Given the description of an element on the screen output the (x, y) to click on. 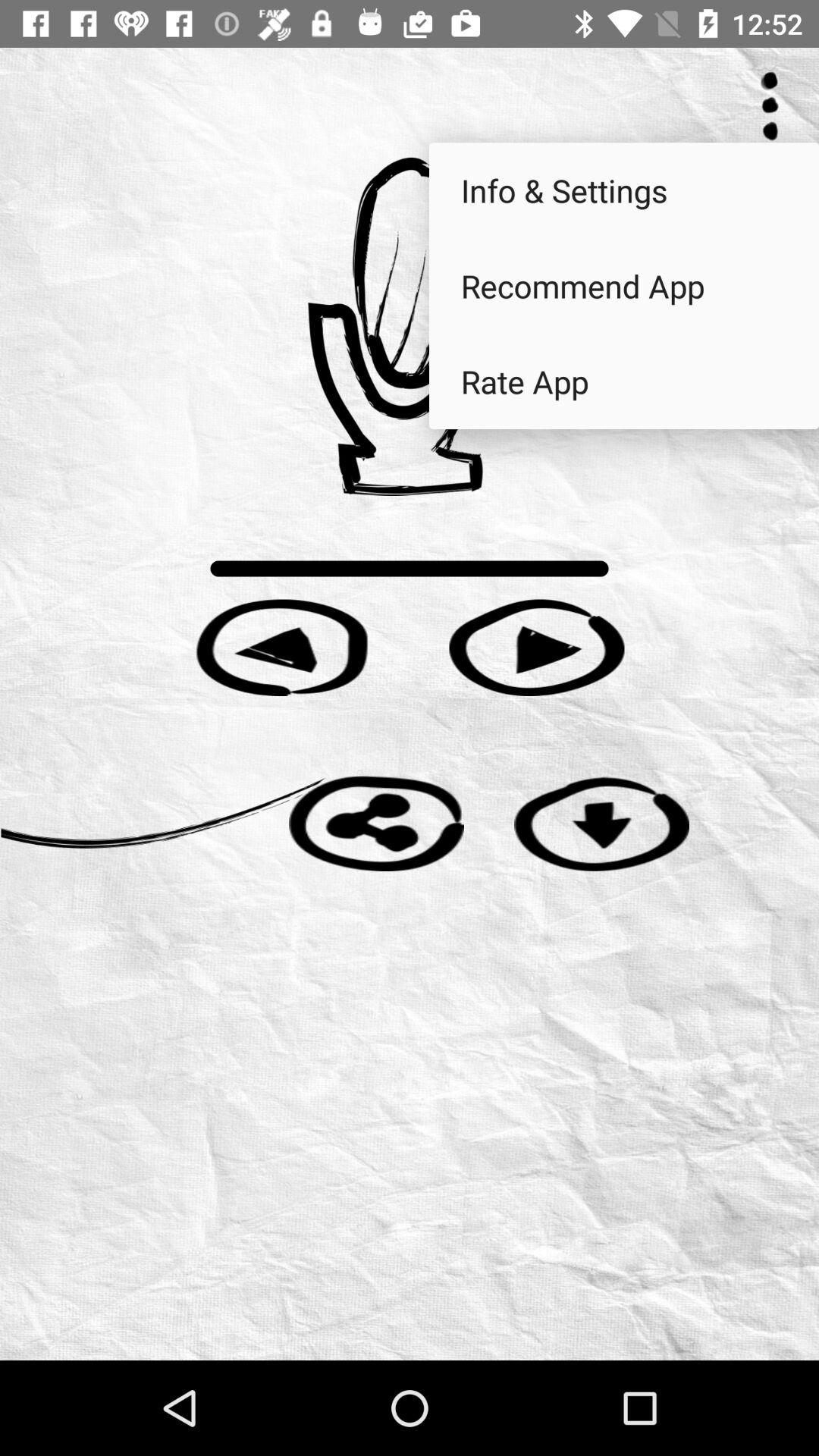
play song (536, 647)
